Given the description of an element on the screen output the (x, y) to click on. 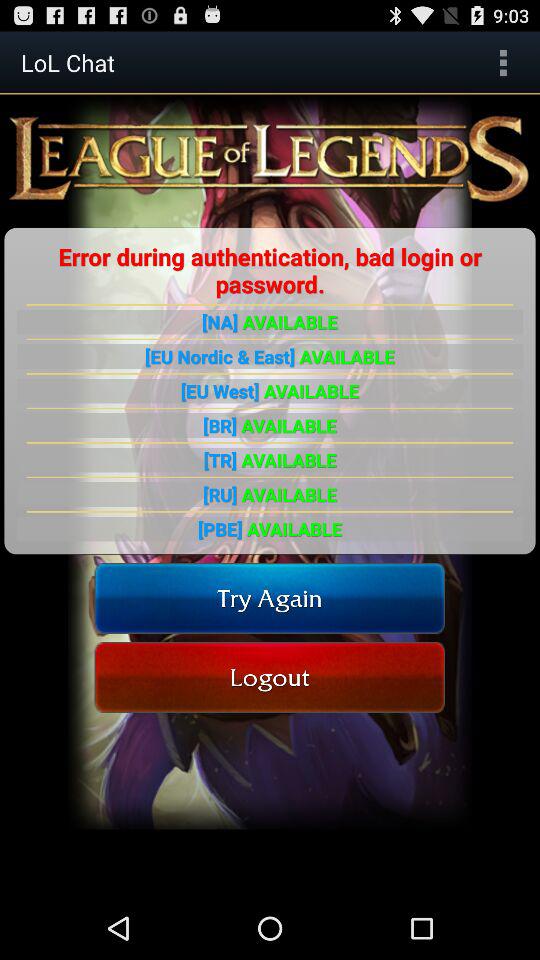
scroll until try again item (269, 597)
